Given the description of an element on the screen output the (x, y) to click on. 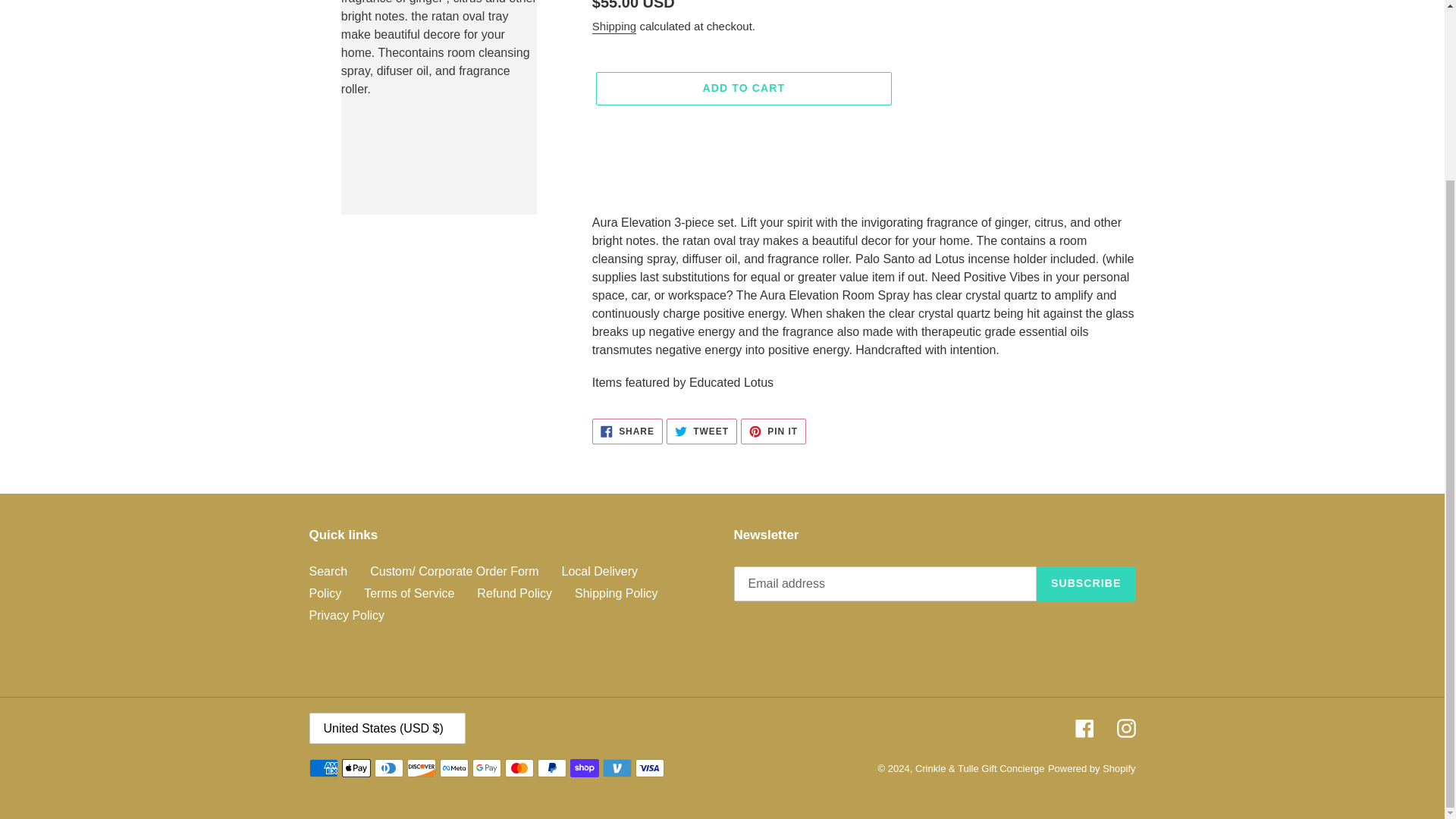
Shipping Policy (701, 431)
Terms of Service (616, 593)
Shipping (627, 431)
Policy (409, 593)
ADD TO CART (614, 26)
Search (325, 593)
Refund Policy (743, 88)
